Given the description of an element on the screen output the (x, y) to click on. 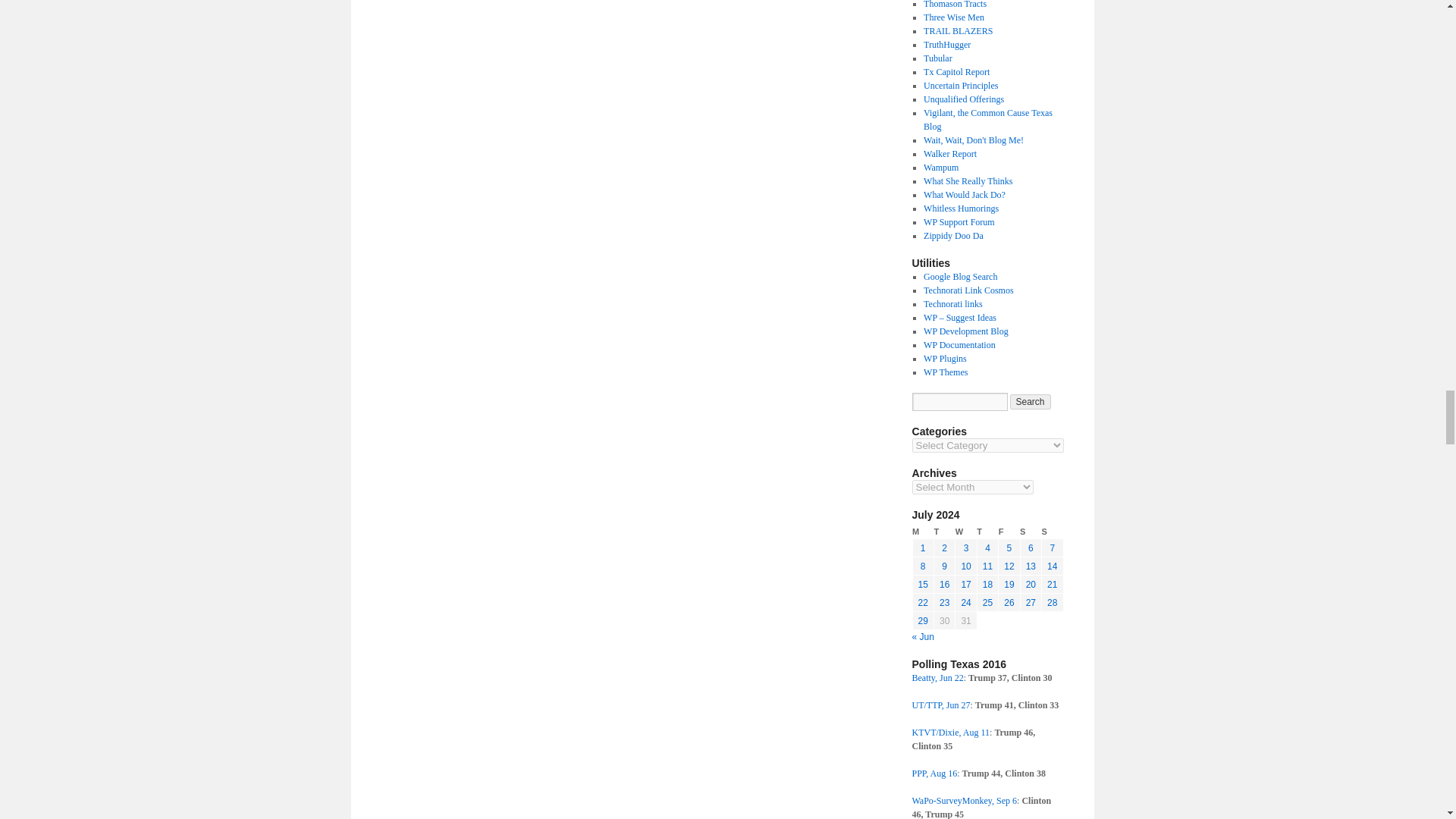
Wednesday (965, 531)
Monday (922, 531)
Tuesday (944, 531)
Search (1030, 401)
